Given the description of an element on the screen output the (x, y) to click on. 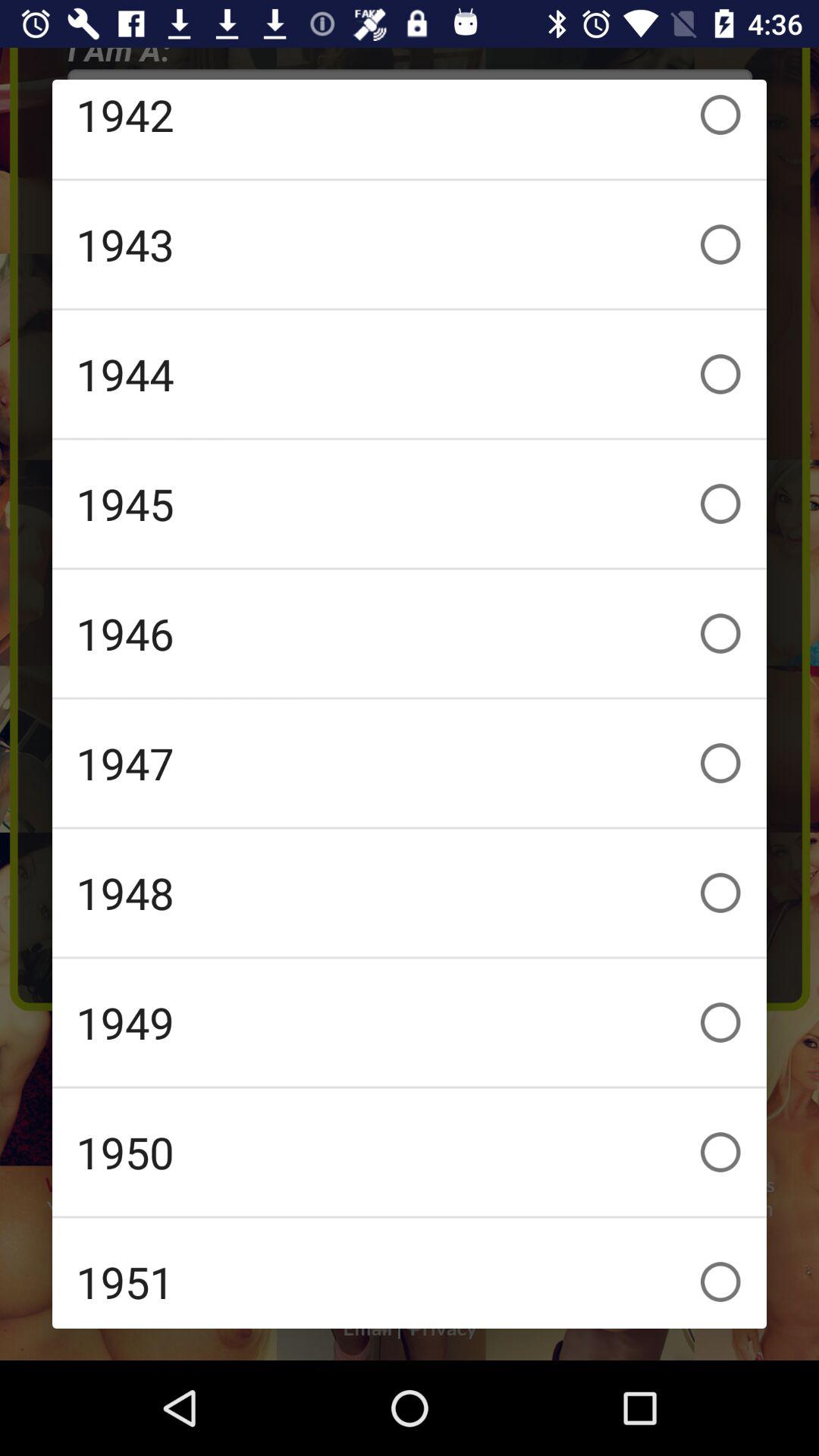
tap 1945 checkbox (409, 503)
